Given the description of an element on the screen output the (x, y) to click on. 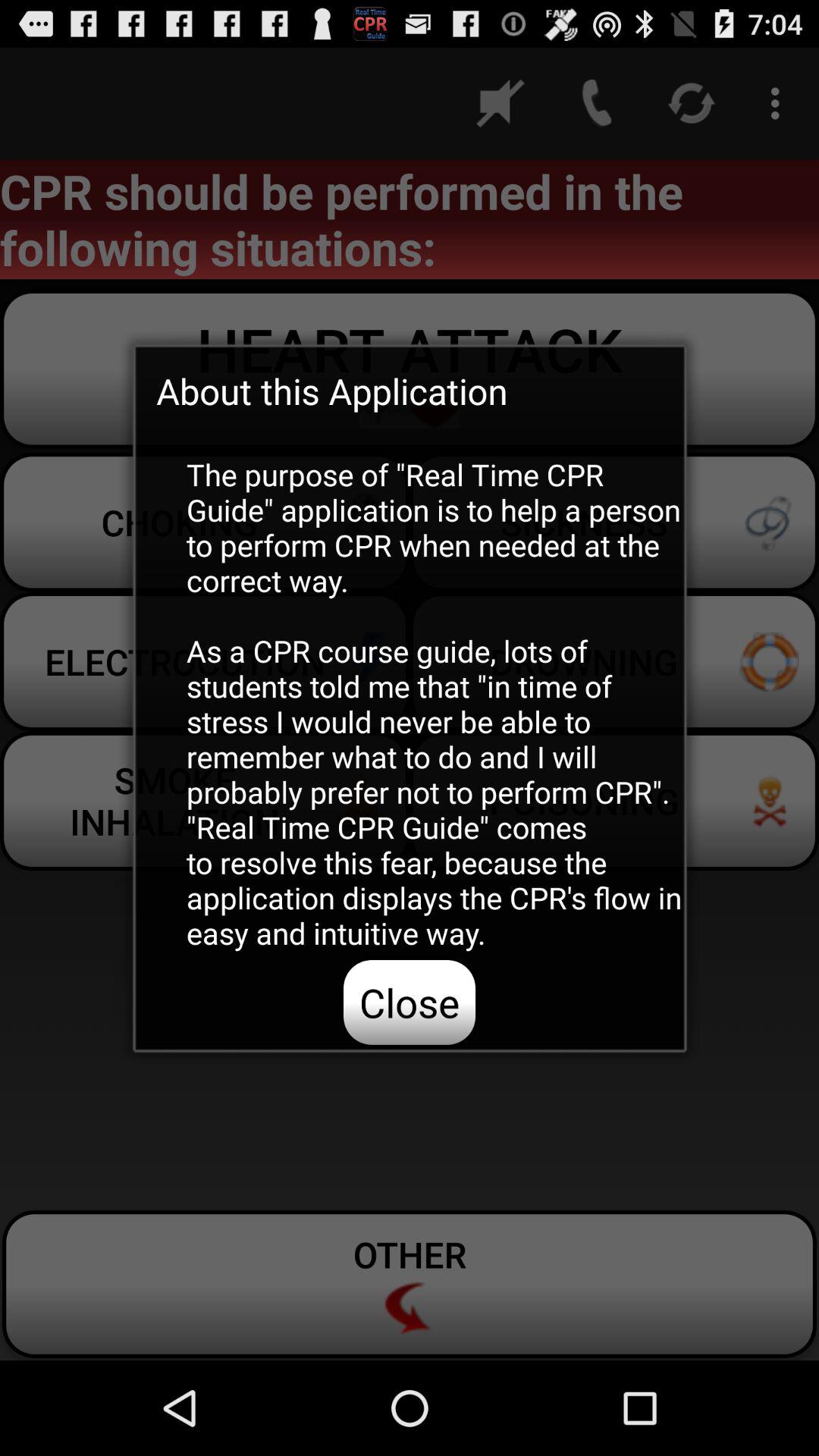
open close item (409, 1002)
